Given the description of an element on the screen output the (x, y) to click on. 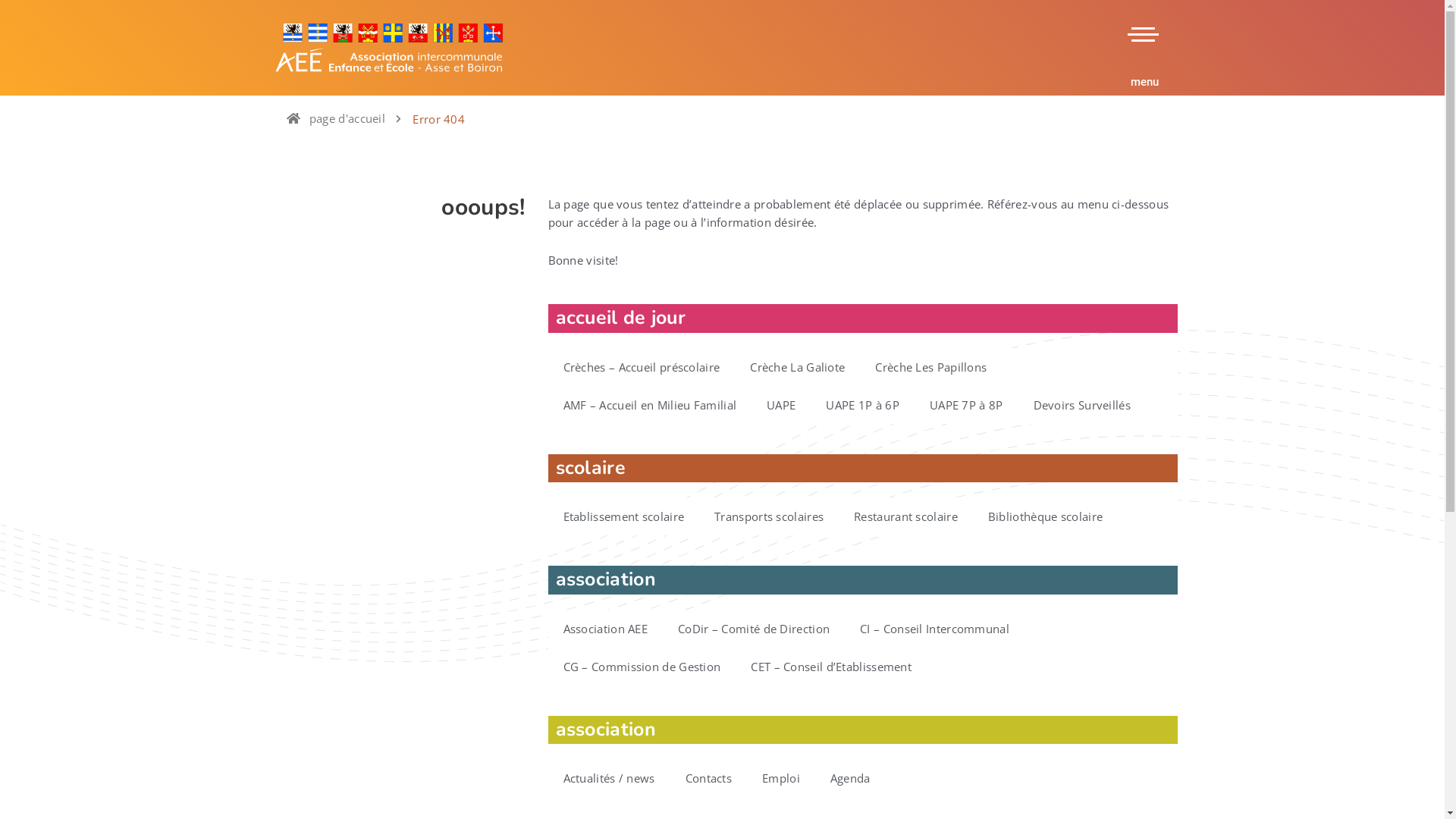
Restaurant scolaire Element type: text (905, 516)
page d'accueil Element type: text (345, 117)
Emploi Element type: text (780, 778)
UAPE Element type: text (780, 404)
Agenda Element type: text (850, 778)
Contacts Element type: text (708, 778)
Etablissement scolaire Element type: text (623, 516)
Transports scolaires Element type: text (768, 516)
Association AEE Element type: text (604, 628)
